Given the description of an element on the screen output the (x, y) to click on. 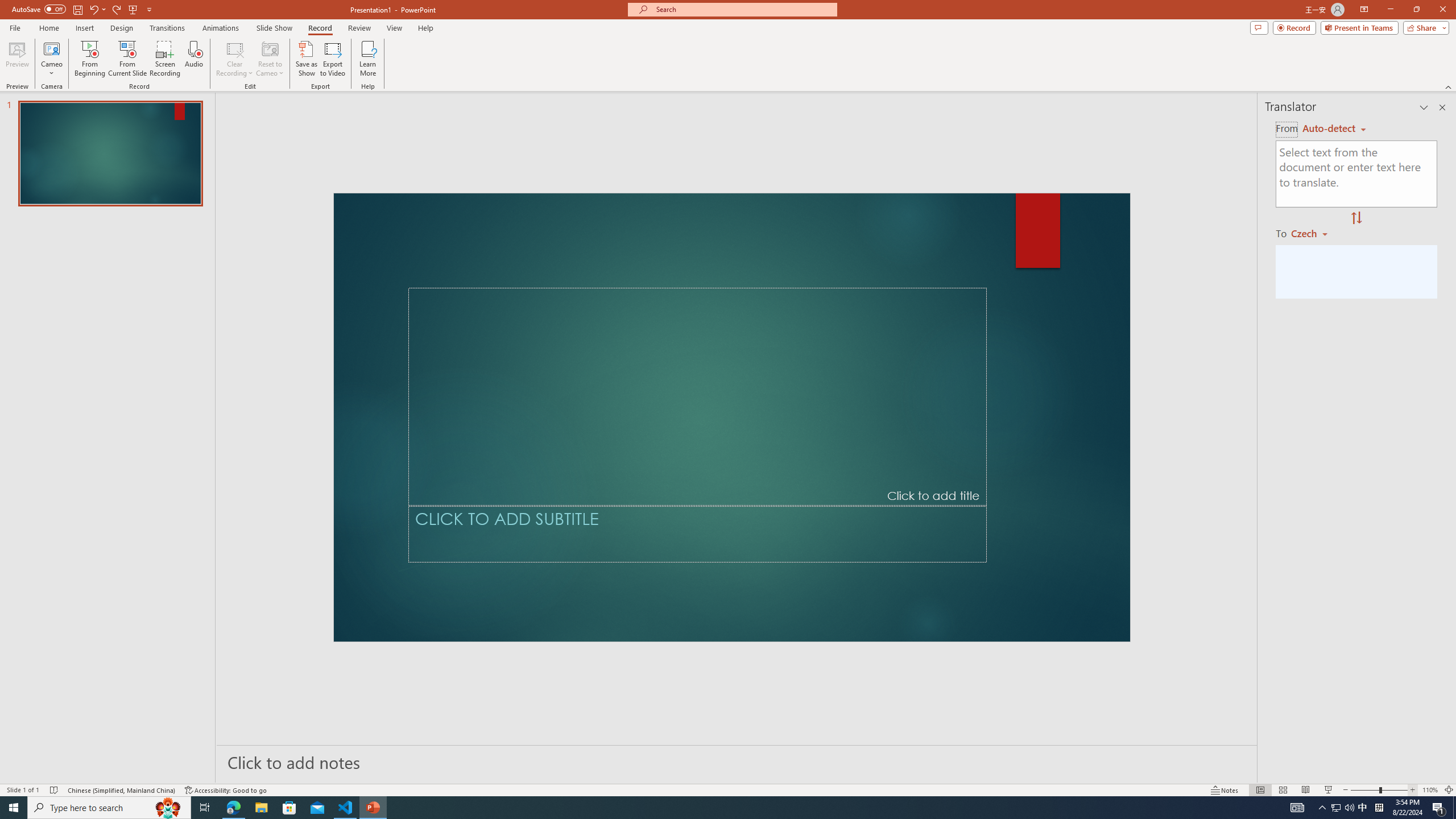
Undo Click and Type Formatting (159, 18)
Ink Help (695, 92)
Save (136, 18)
Ribbon Display Options (1436, 124)
Microsoft search (749, 18)
AutoSave (80, 18)
Customize Quick Access Toolbar (218, 18)
Class: MsoCommandBar (728, 67)
Class: NetUIScrollBar (720, 757)
File Tab (25, 47)
Home (72, 47)
Line down (1448, 744)
Page up (1448, 168)
Pen: Red, 0.5 mm (200, 89)
